Given the description of an element on the screen output the (x, y) to click on. 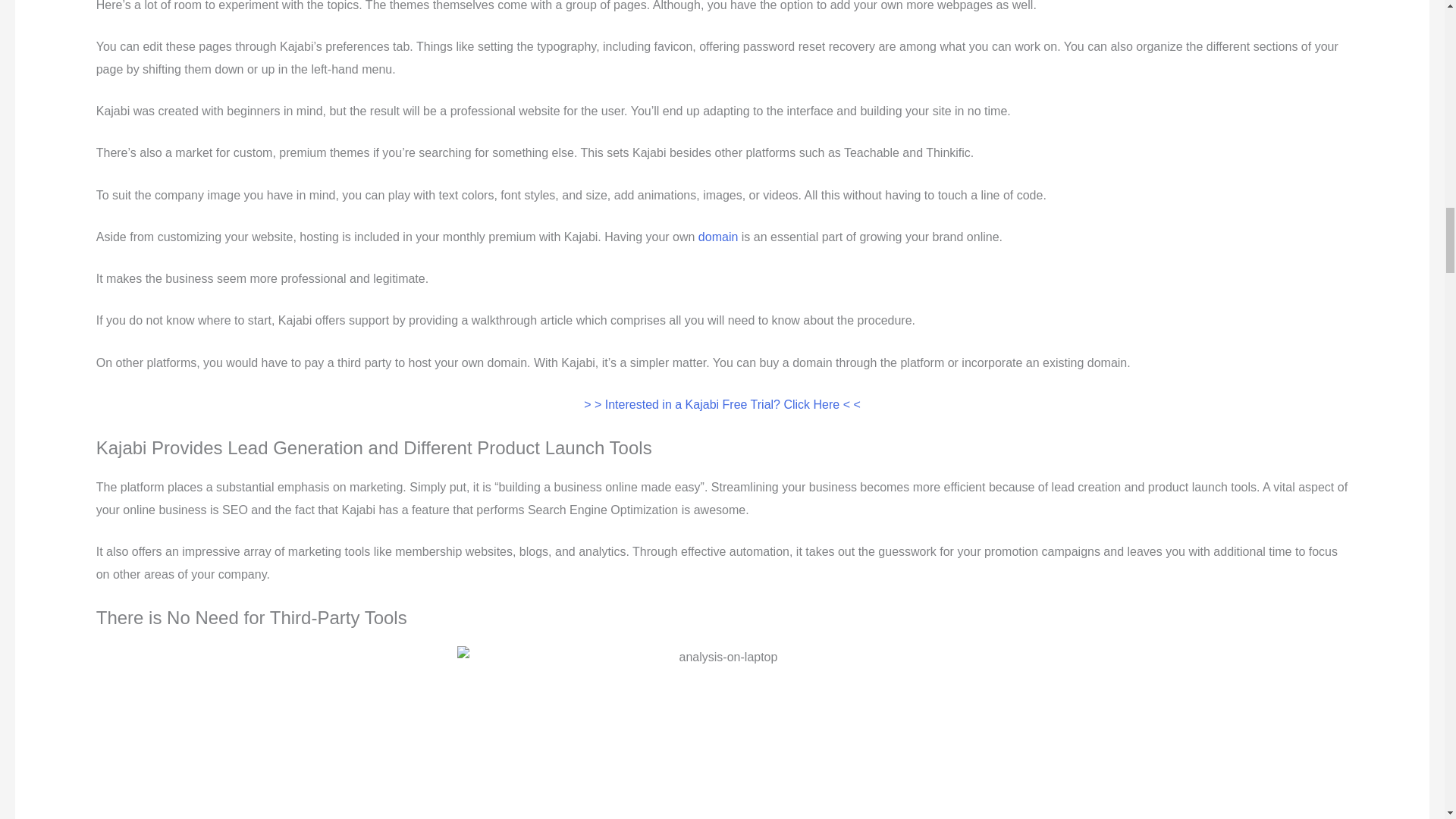
domain (718, 236)
